Given the description of an element on the screen output the (x, y) to click on. 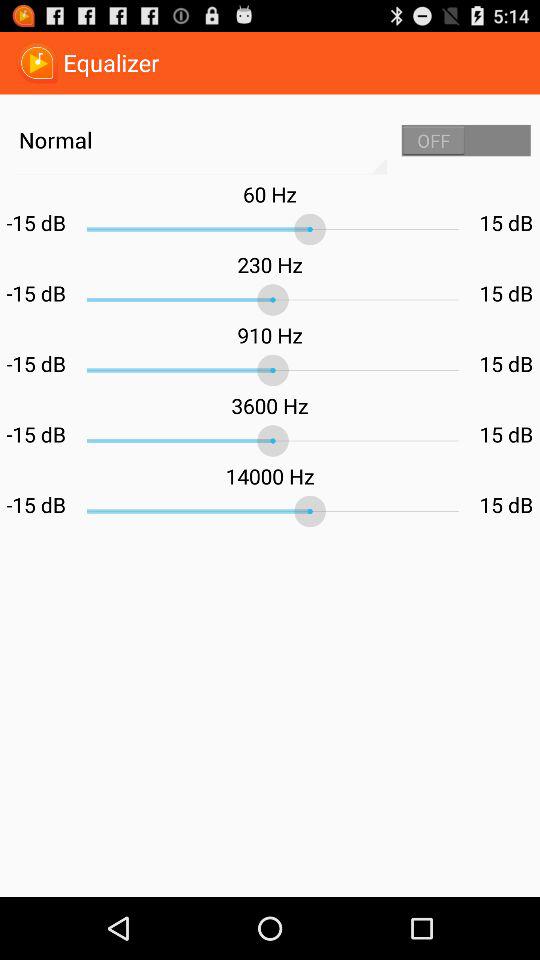
turn off the app next to normal (465, 140)
